Given the description of an element on the screen output the (x, y) to click on. 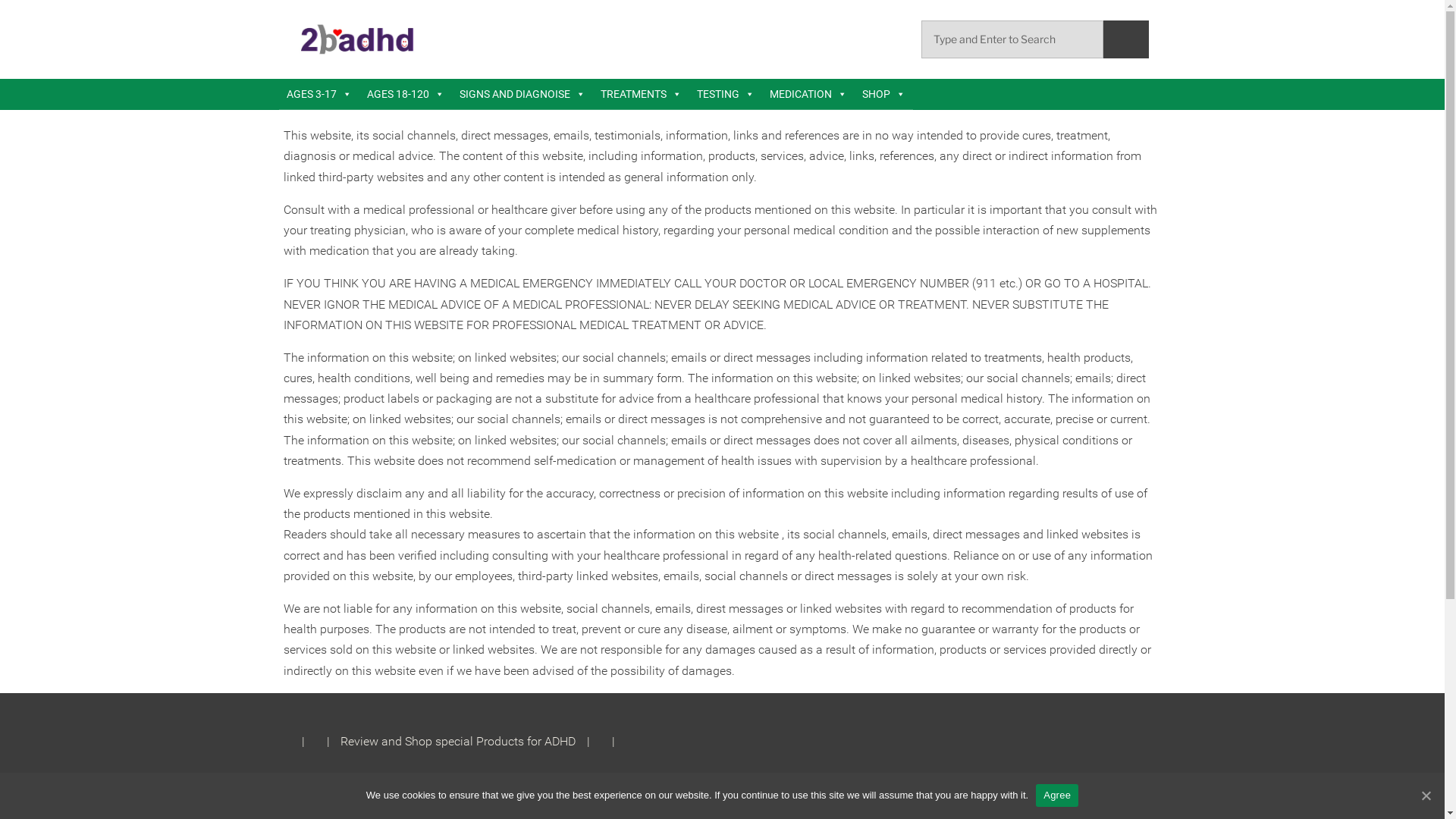
SHOP Element type: text (882, 93)
MEDICATION Element type: text (807, 93)
Review and Shop special Products for ADHD Element type: text (456, 741)
TREATMENTS Element type: text (641, 93)
AGES 18-120 Element type: text (405, 93)
TESTING Element type: text (724, 93)
Agree Element type: text (1056, 795)
AGES 3-17 Element type: text (319, 93)
Search for: Element type: hover (1011, 39)
SIGNS AND DIAGNOISE Element type: text (522, 93)
